Given the description of an element on the screen output the (x, y) to click on. 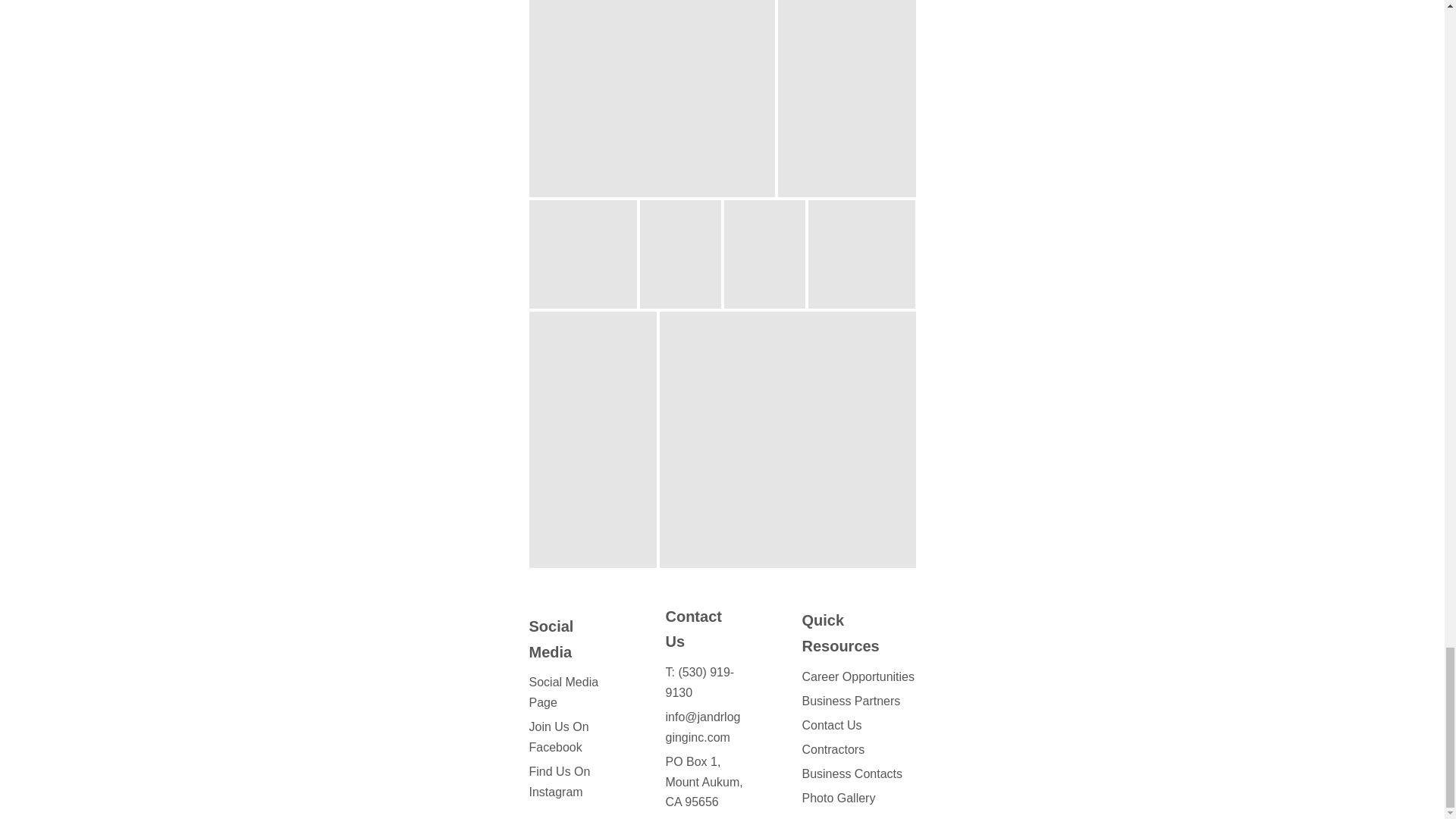
Business Contacts (852, 773)
PO Box 1, Mount Aukum, CA 95656 (703, 782)
Join Us On Facebook (559, 736)
Contractors (833, 748)
Find Us On Instagram (560, 781)
Business Partners (850, 700)
Social Media Page (563, 692)
Career Opportunities (858, 676)
Photo Gallery (838, 797)
Contact Us (831, 725)
